Given the description of an element on the screen output the (x, y) to click on. 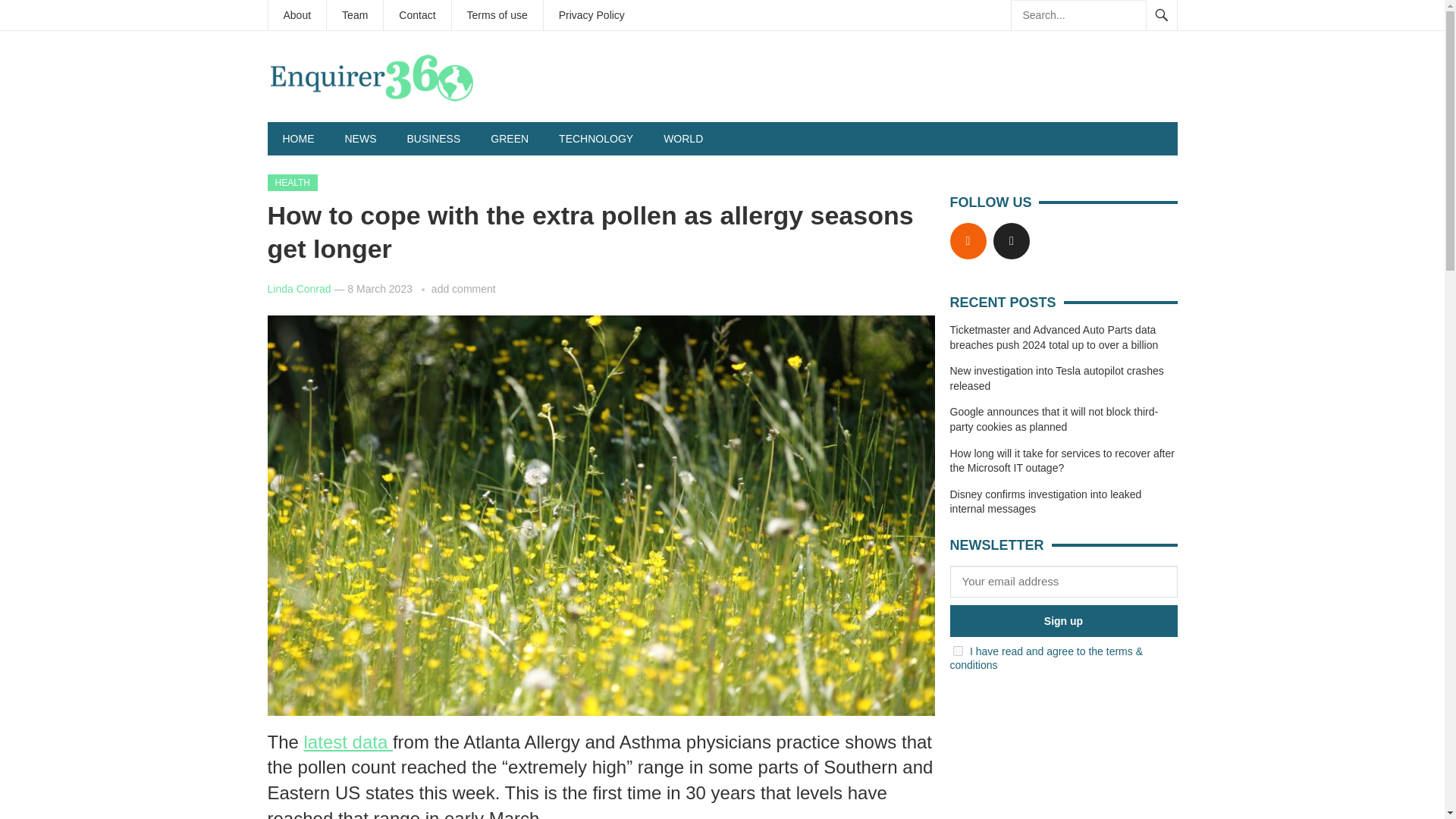
About (296, 15)
Team (354, 15)
NEWS (360, 138)
Terms of use (497, 15)
TECHNOLOGY (595, 138)
HEALTH (291, 182)
Sign up (1062, 621)
View all posts in Health (291, 182)
HOME (297, 138)
add comment (463, 288)
